Given the description of an element on the screen output the (x, y) to click on. 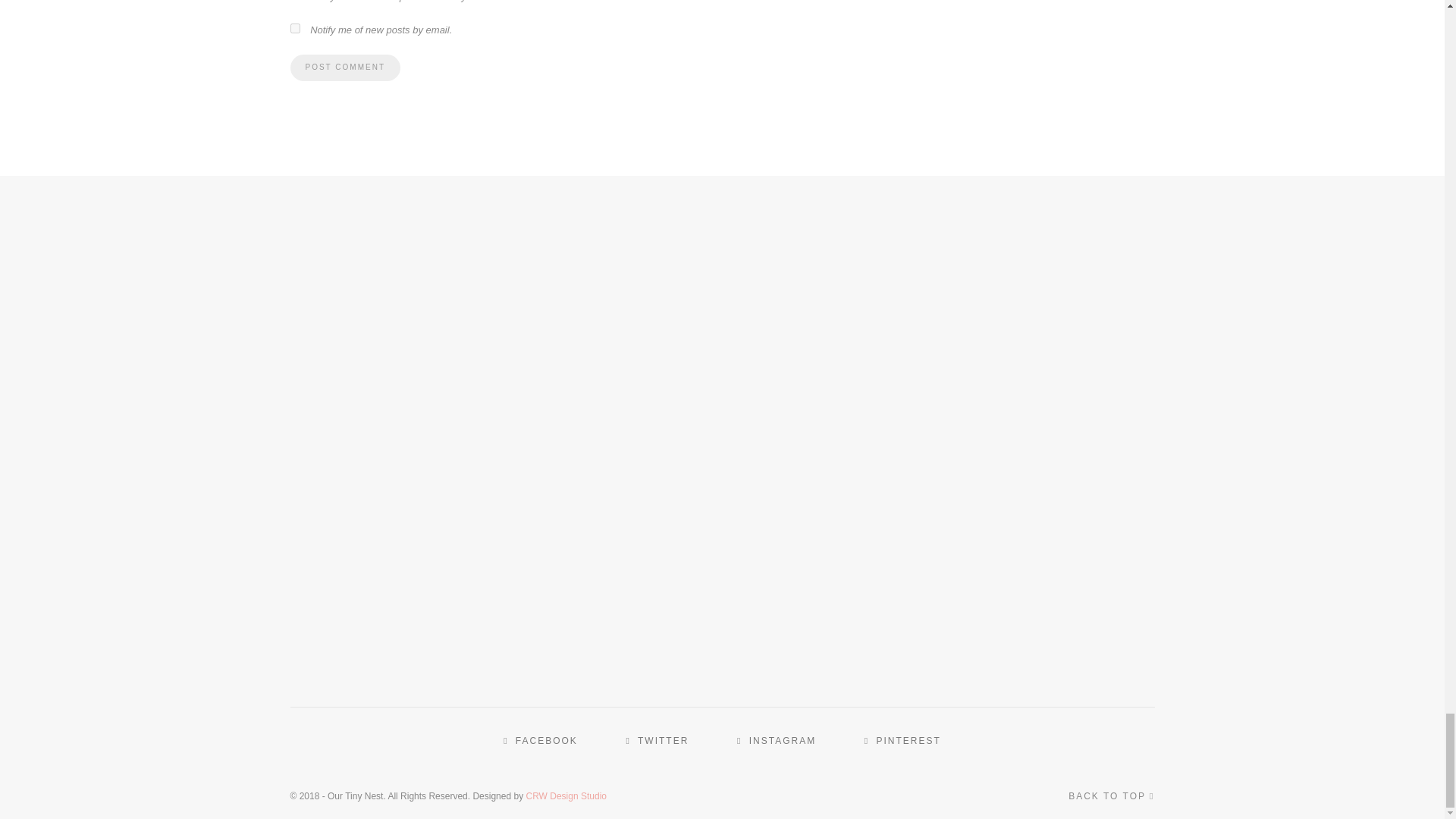
Post Comment (343, 67)
subscribe (294, 28)
